Given the description of an element on the screen output the (x, y) to click on. 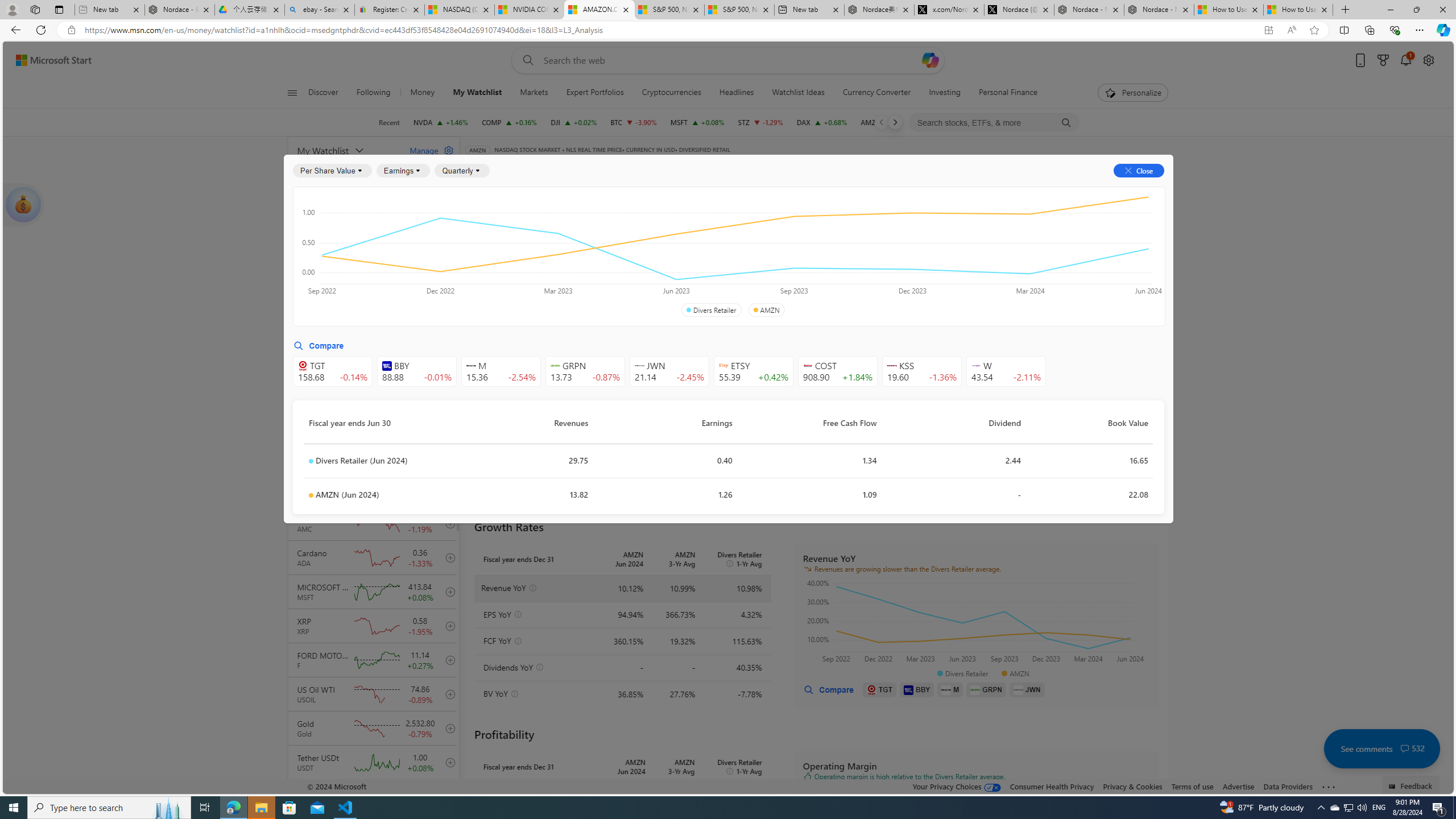
Profitability (662, 253)
Split screen (1344, 29)
Microsoft rewards (1382, 60)
Register: Create a personal eBay account (389, 9)
Markets (533, 92)
Watchlist Ideas (797, 92)
Previous (881, 122)
New tab - Sleeping (109, 9)
Your Privacy Choices (956, 785)
GRPN (986, 689)
My Watchlist (477, 92)
Manage (427, 150)
Personalize (1132, 92)
